Given the description of an element on the screen output the (x, y) to click on. 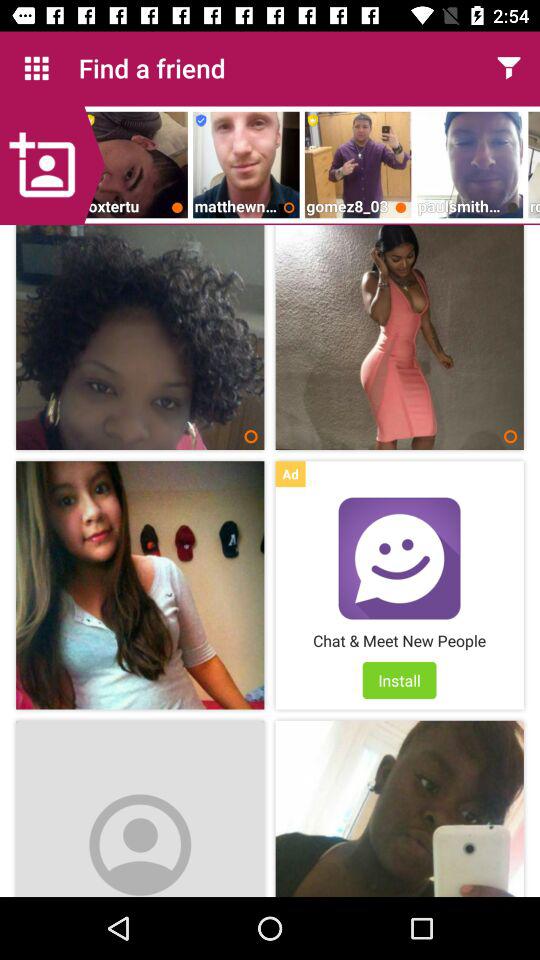
add person button (52, 165)
